Given the description of an element on the screen output the (x, y) to click on. 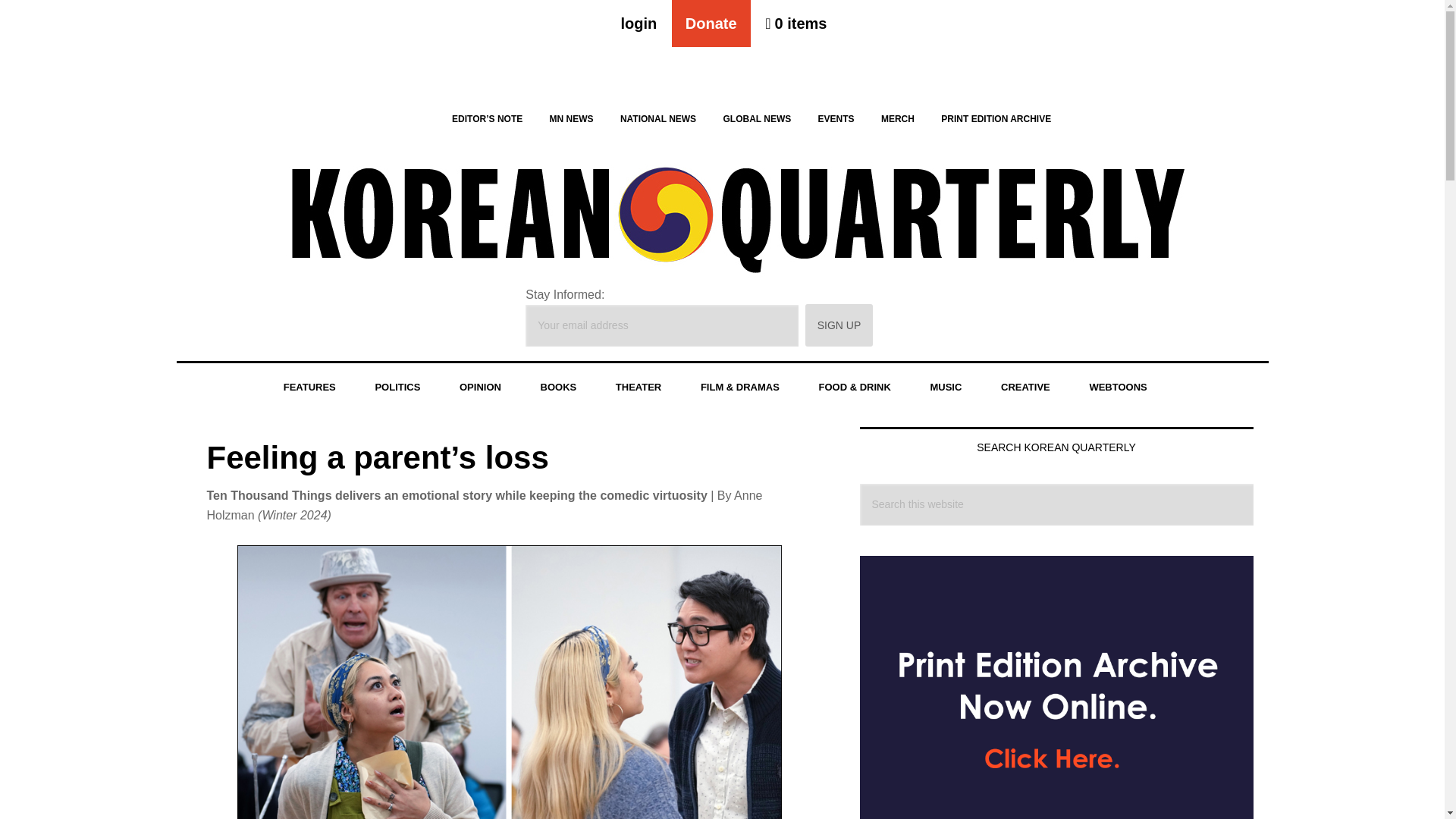
0 items (795, 23)
Sign up (839, 324)
THEATER (638, 387)
POLITICS (397, 387)
EVENTS (836, 118)
Sign up (839, 324)
GLOBAL NEWS (757, 118)
WEBTOONS (1117, 387)
Start shopping (795, 23)
